Given the description of an element on the screen output the (x, y) to click on. 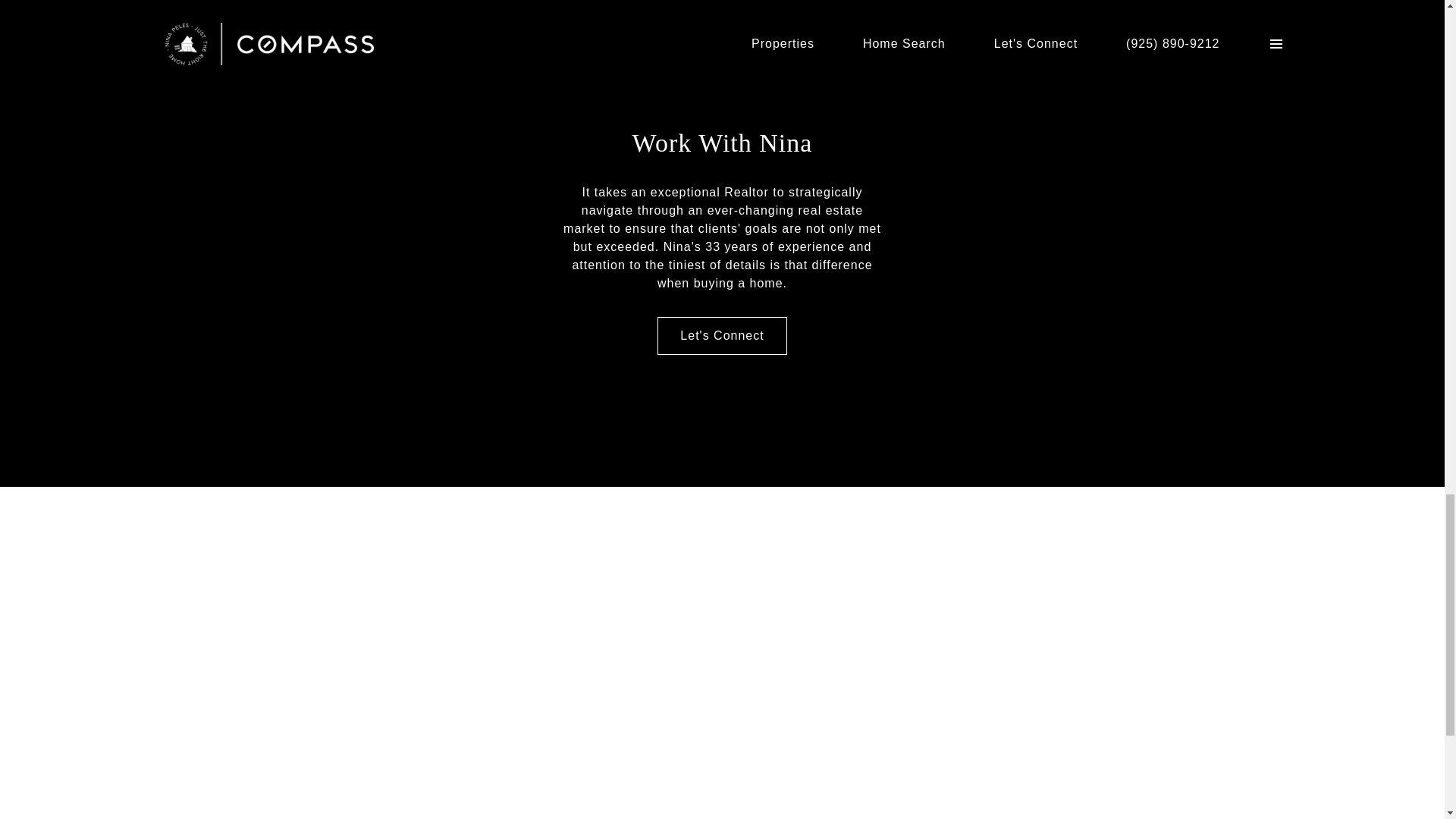
Let'S Connect (722, 335)
